Given the description of an element on the screen output the (x, y) to click on. 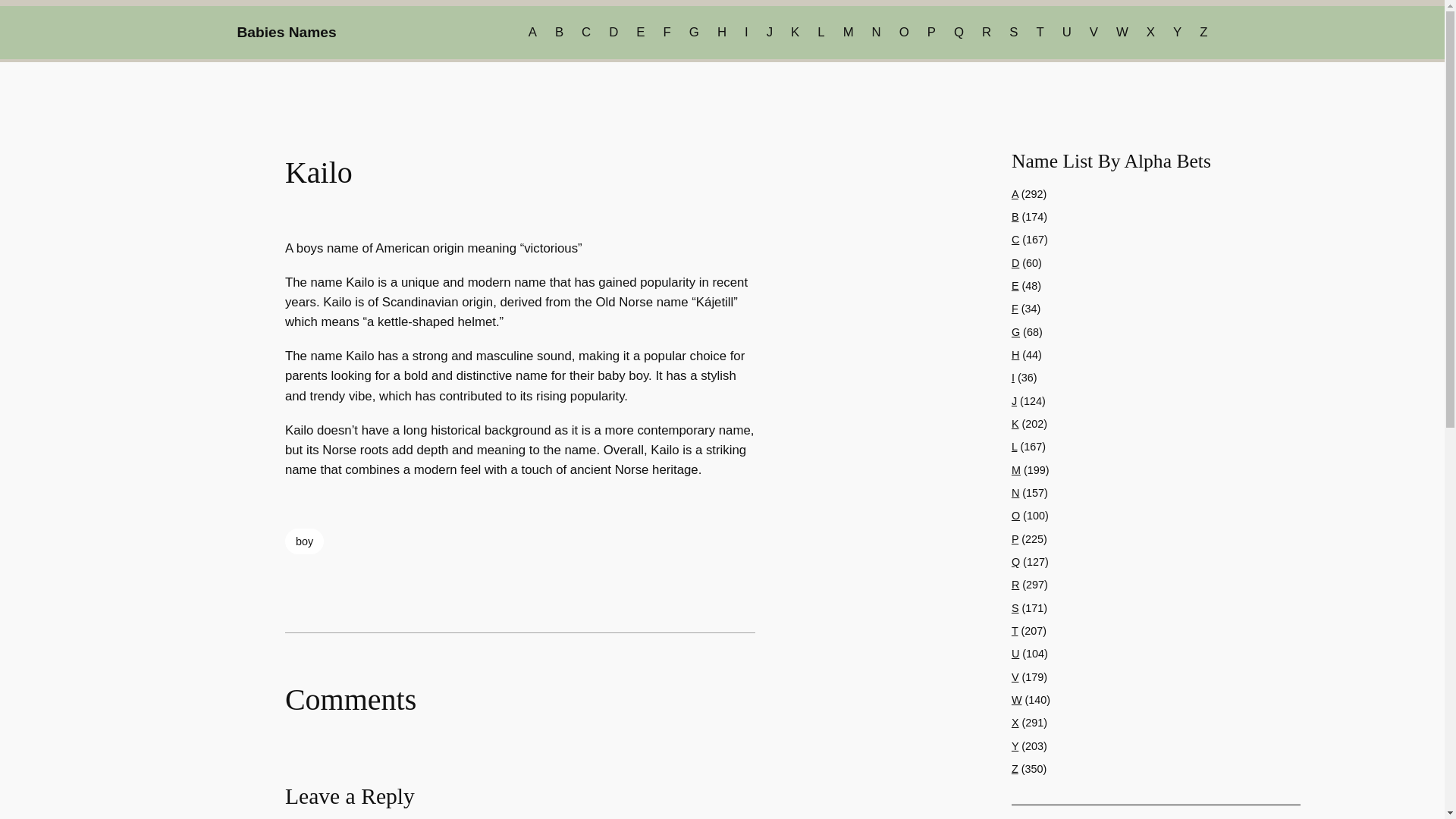
K (794, 32)
D (612, 32)
Y (1176, 32)
C (1015, 239)
L (820, 32)
J (770, 32)
B (558, 32)
U (1066, 32)
T (1039, 32)
B (1015, 216)
M (848, 32)
E (640, 32)
S (1013, 32)
G (693, 32)
A (532, 32)
